Given the description of an element on the screen output the (x, y) to click on. 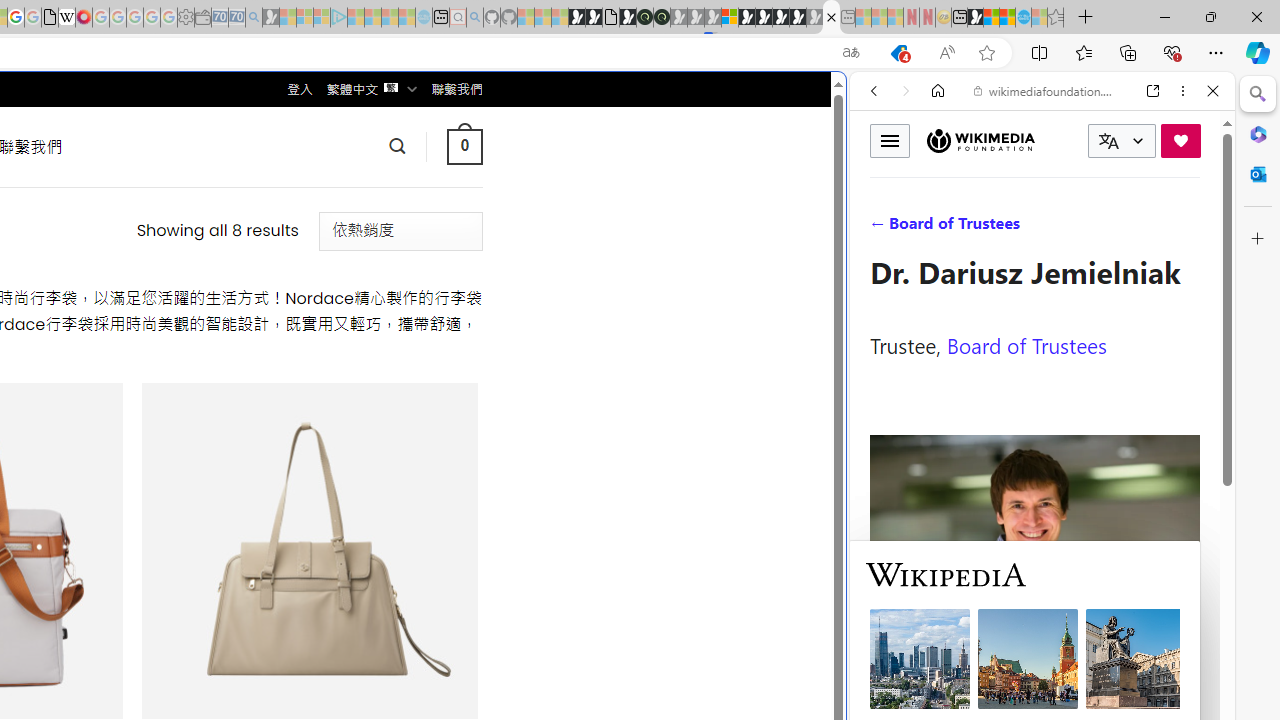
Services - Maintenance | Sky Blue Bikes - Sky Blue Bikes (1023, 17)
Target page - Wikipedia (66, 17)
